Given the description of an element on the screen output the (x, y) to click on. 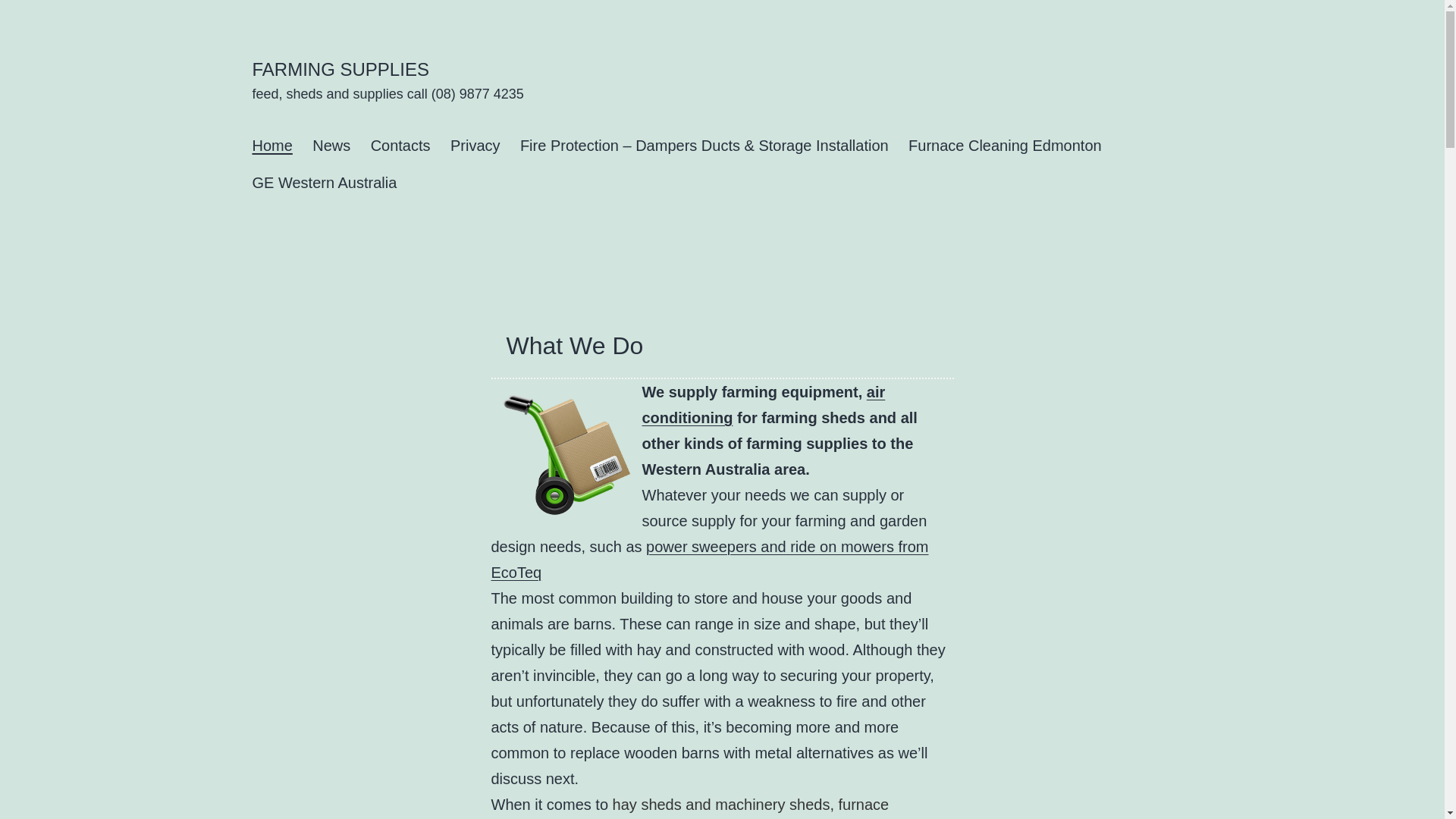
Contacts Element type: text (399, 144)
Furnace Cleaning Edmonton Element type: text (1004, 144)
power sweepers and ride on mowers from EcoTeq Element type: text (709, 559)
Home Element type: text (271, 144)
News Element type: text (331, 144)
Privacy Element type: text (475, 144)
air conditioning Element type: text (762, 404)
GE Western Australia Element type: text (323, 182)
